Given the description of an element on the screen output the (x, y) to click on. 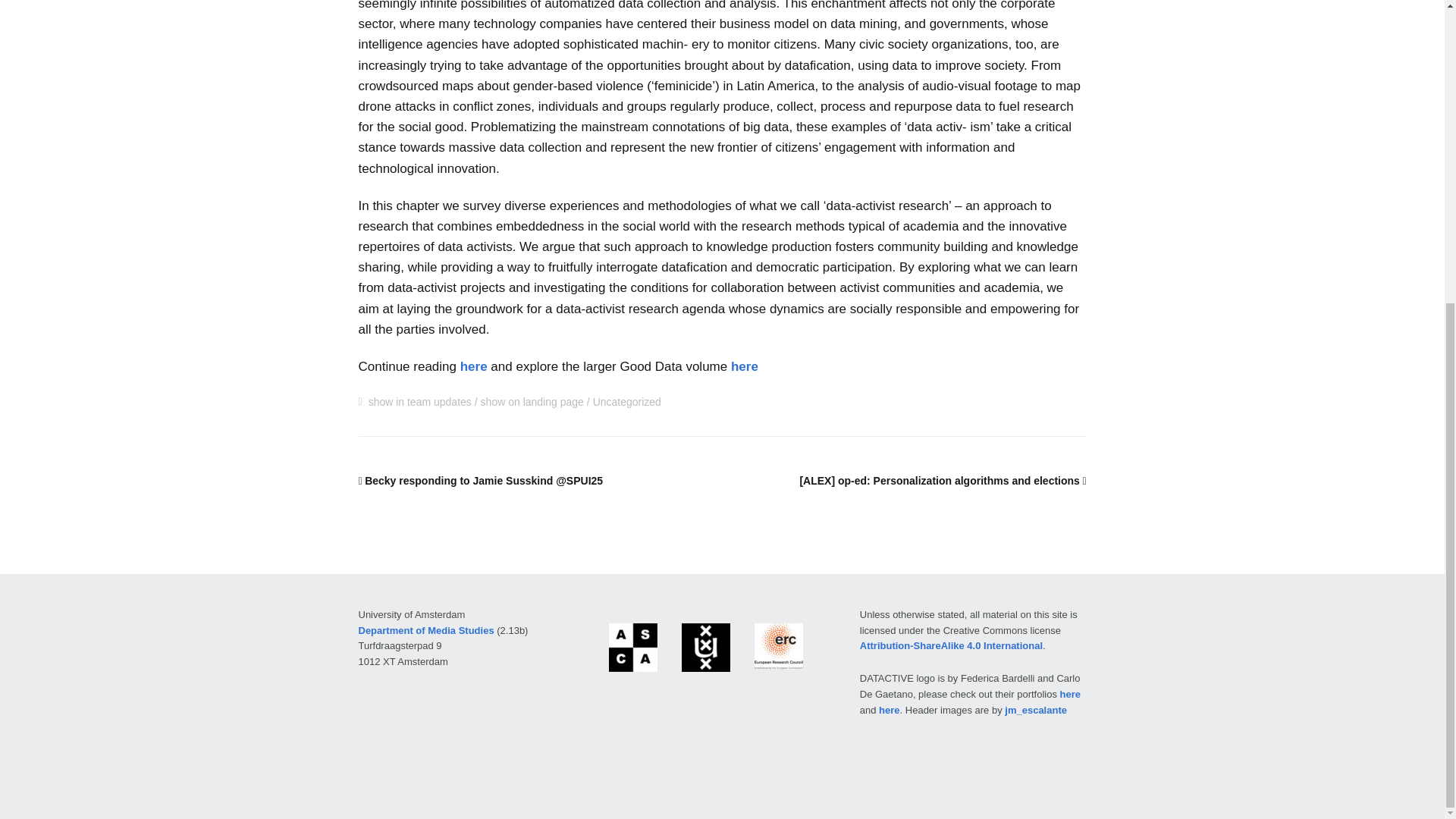
show on landing page (531, 401)
Uncategorized (626, 401)
here (744, 366)
show in team updates (419, 401)
Attribution-ShareAlike 4.0 International (951, 645)
Department of Media Studies (425, 630)
here (473, 366)
